Given the description of an element on the screen output the (x, y) to click on. 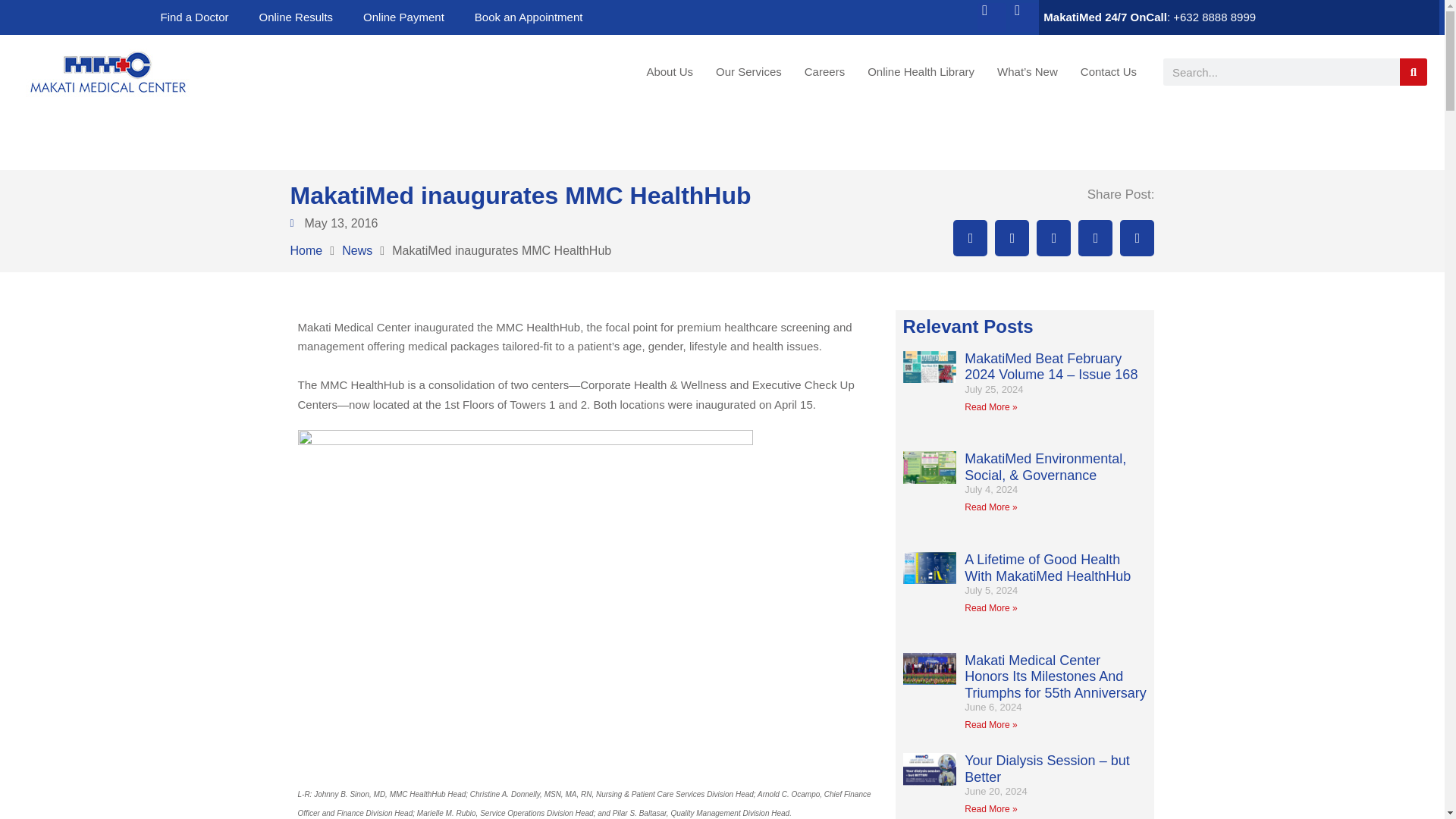
Careers (824, 71)
Book an Appointment (529, 17)
About Us (669, 71)
Our Services (748, 71)
Online Results (296, 17)
Search (1412, 71)
Contact Us (1108, 71)
Online Payment (403, 17)
MakatiMed inaugurates MMC HealthHub (501, 250)
Home (305, 250)
